Given the description of an element on the screen output the (x, y) to click on. 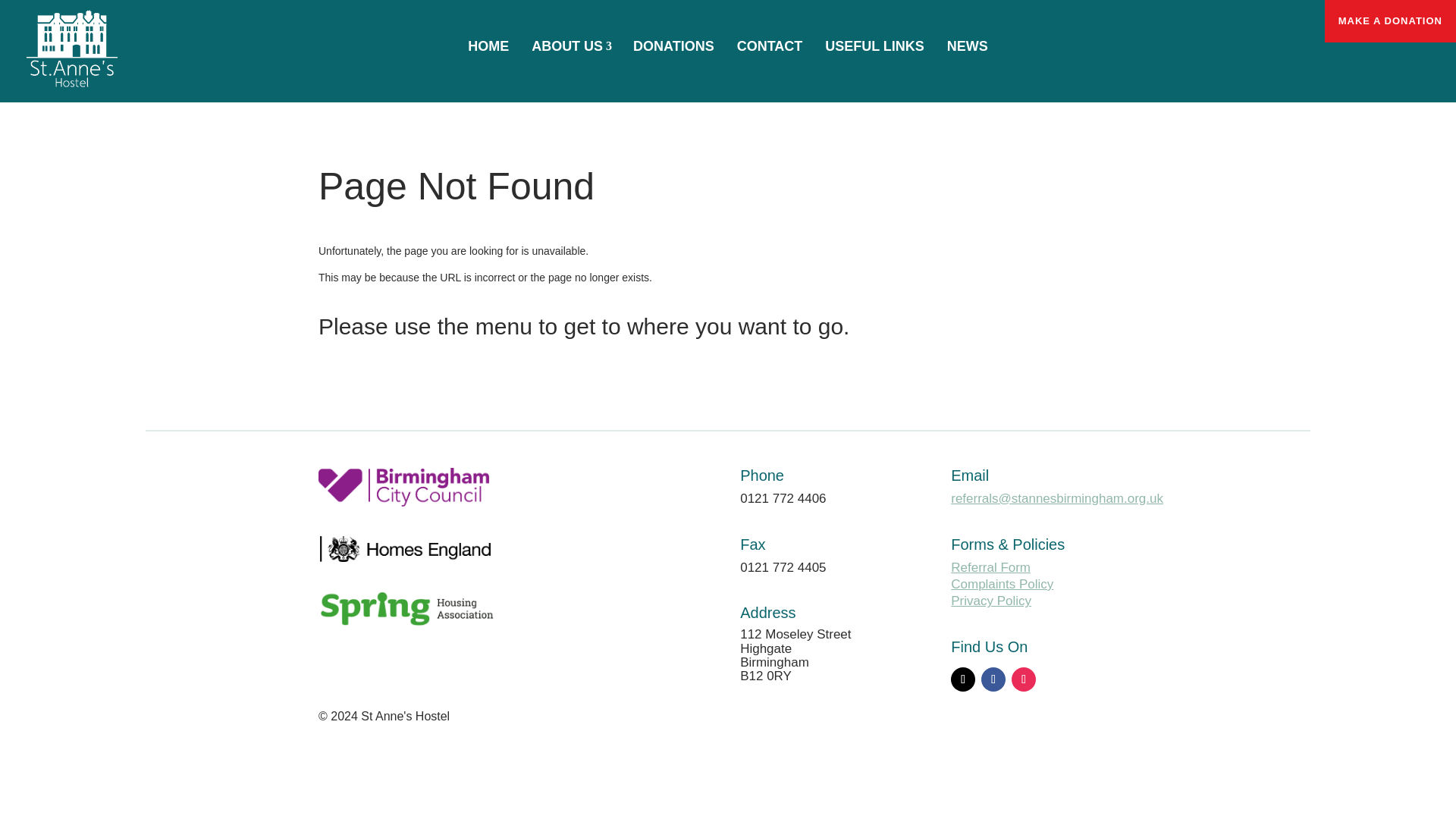
DONATIONS (673, 45)
Follow on Instagram (1023, 679)
CONTACT (769, 45)
HOME (488, 45)
Follow on Facebook (993, 679)
ABOUT US (570, 45)
Follow on X (962, 679)
NEWS (967, 45)
USEFUL LINKS (874, 45)
